Given the description of an element on the screen output the (x, y) to click on. 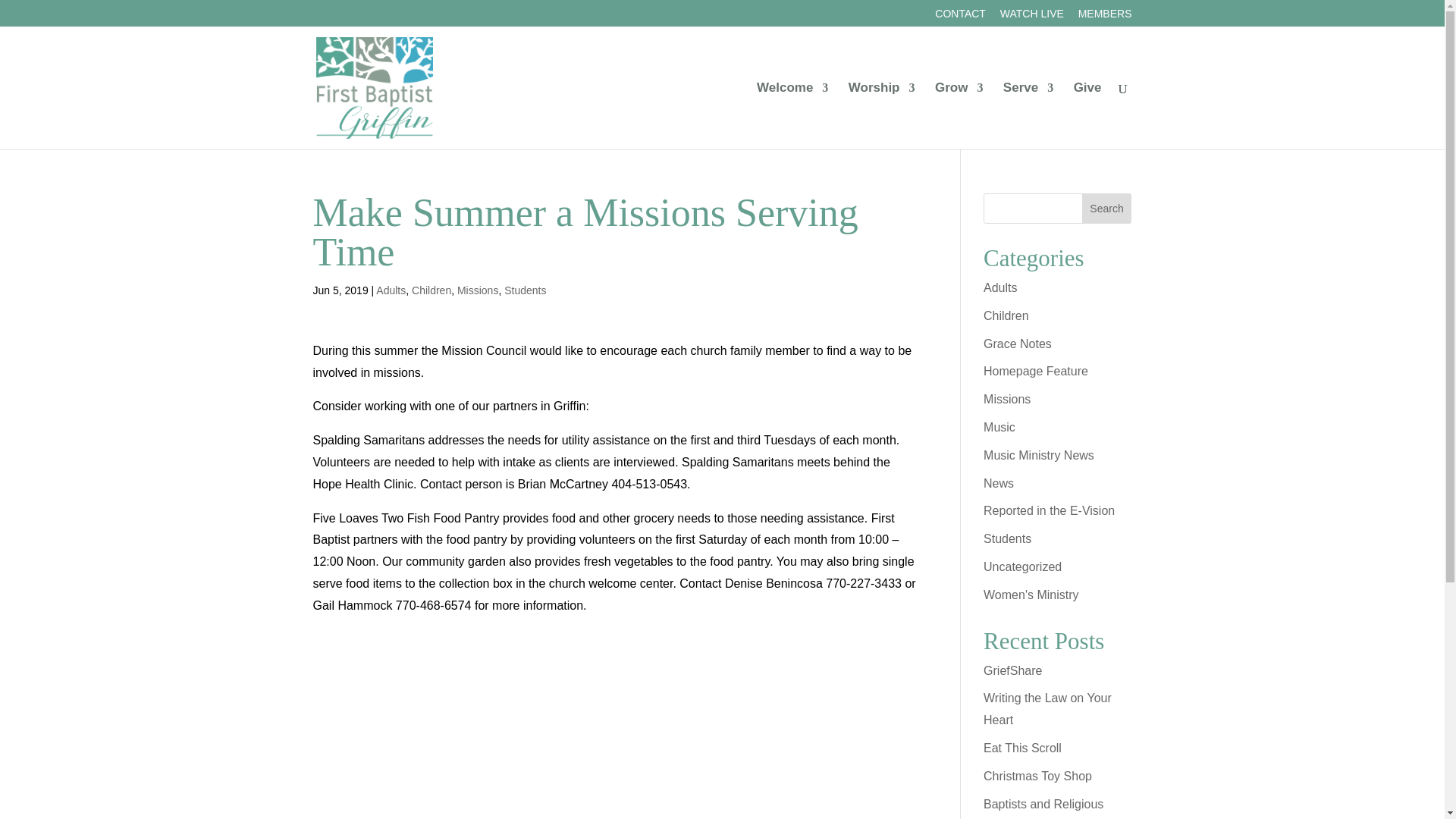
MEMBERS (1105, 16)
Search (1106, 208)
Worship (881, 115)
CONTACT (959, 16)
WATCH LIVE (1032, 16)
Welcome (792, 115)
